Given the description of an element on the screen output the (x, y) to click on. 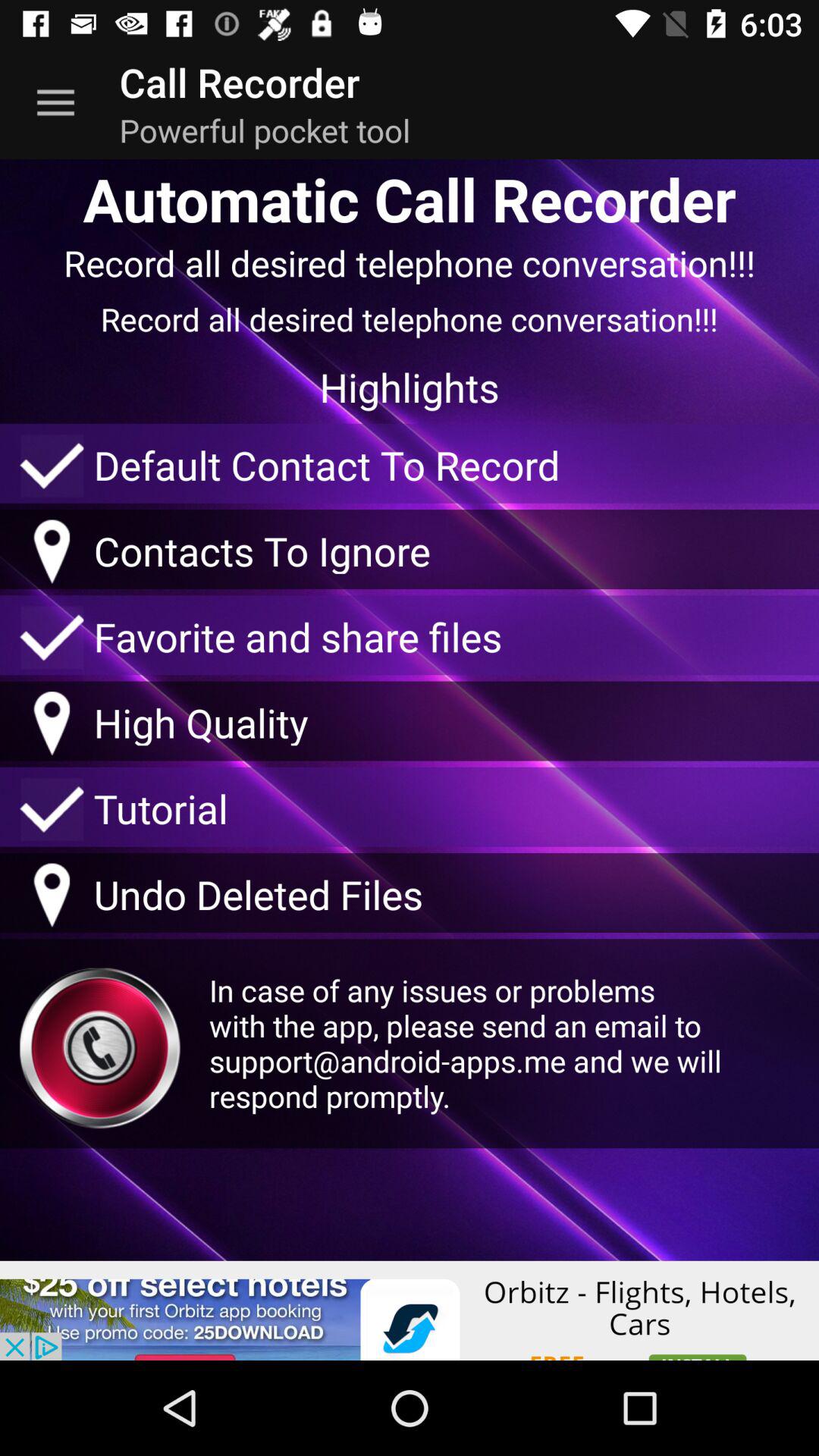
advertisement for orbitz (409, 1310)
